Given the description of an element on the screen output the (x, y) to click on. 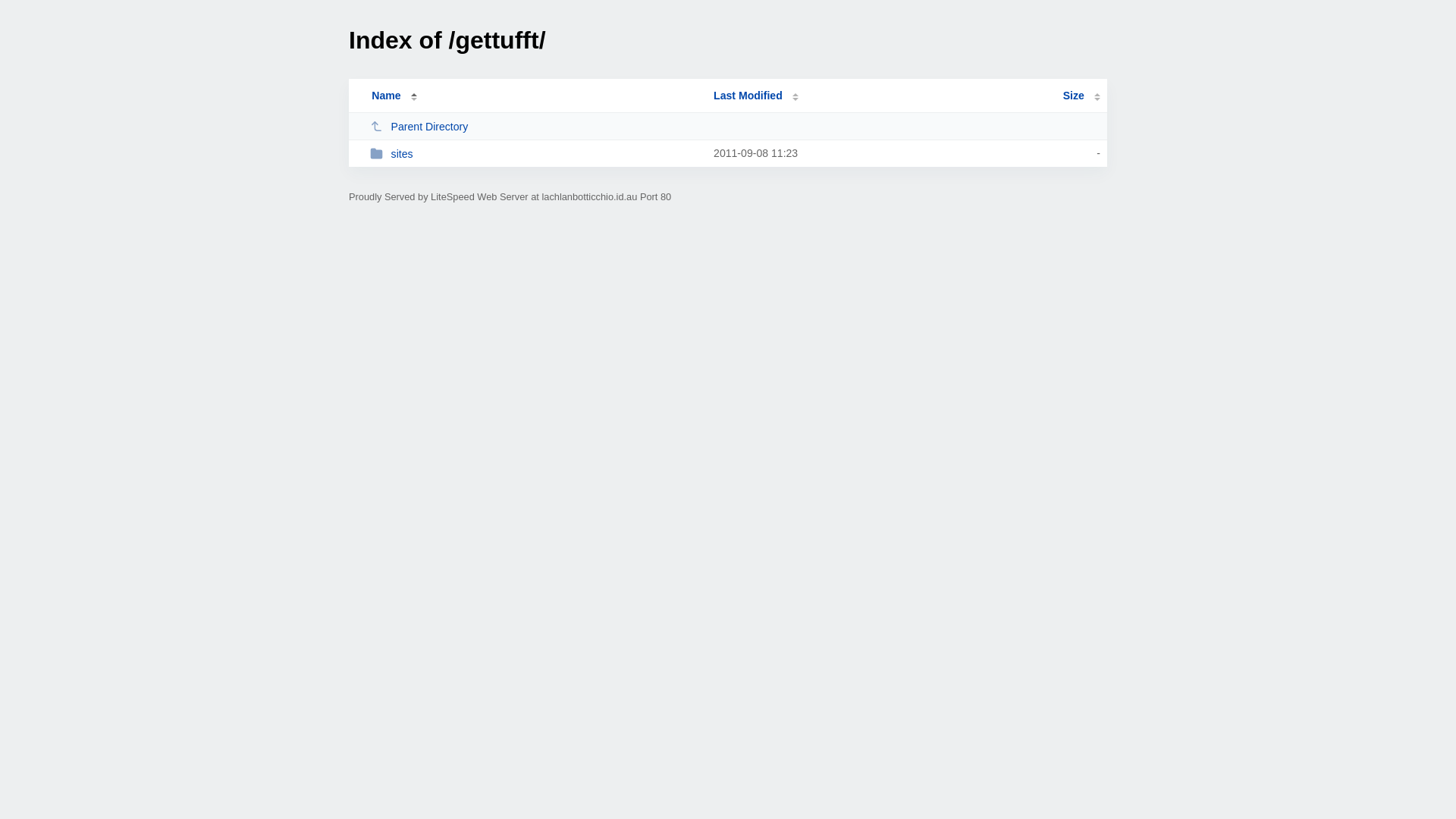
Size Element type: text (1081, 95)
Parent Directory Element type: text (534, 125)
sites Element type: text (534, 153)
Last Modified Element type: text (755, 95)
Name Element type: text (385, 95)
